Given the description of an element on the screen output the (x, y) to click on. 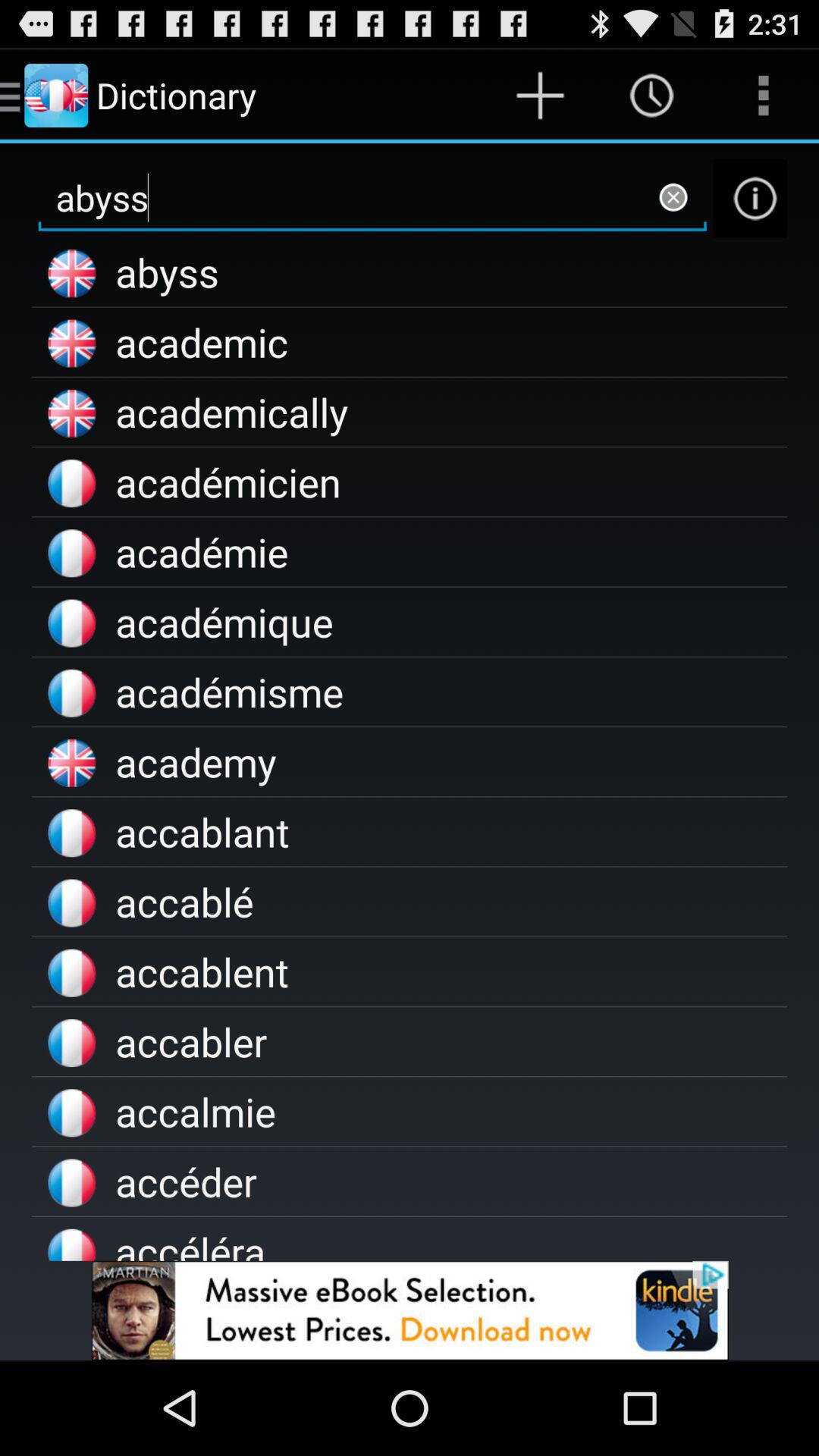
view information (750, 198)
